Given the description of an element on the screen output the (x, y) to click on. 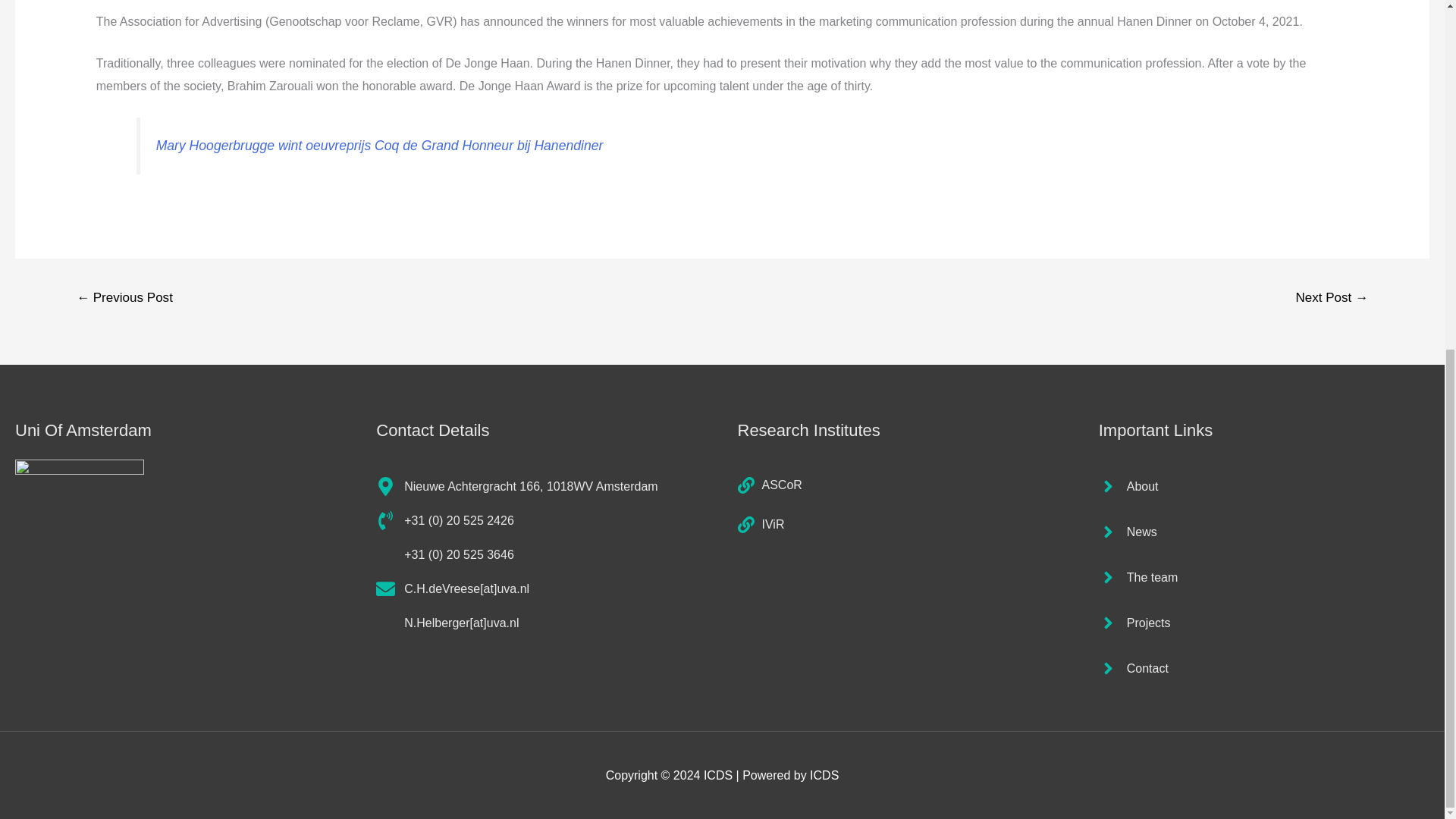
Uni of Amsterdam (79, 523)
IViR (760, 524)
About (1128, 486)
Nieuwe Achtergracht 166, 1018WV Amsterdam (516, 486)
ASCoR (769, 484)
